Given the description of an element on the screen output the (x, y) to click on. 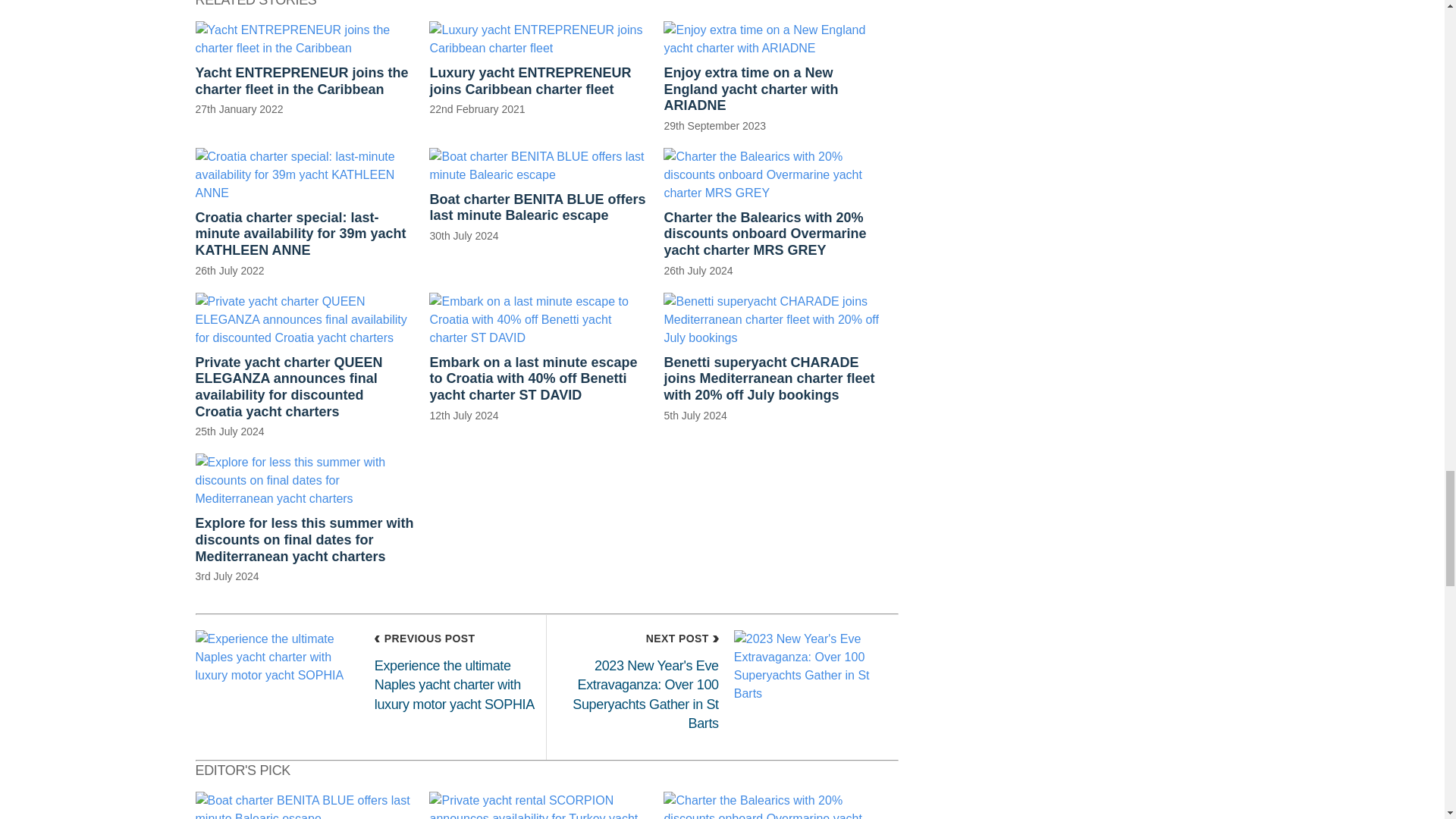
Enjoy extra time on a New England yacht charter with ARIADNE (772, 76)
Luxury yacht ENTREPRENEUR joins Caribbean charter fleet (538, 68)
Boat charter BENITA BLUE offers last minute Balearic escape (538, 195)
Yacht ENTREPRENEUR joins the charter fleet in the Caribbean (304, 68)
